Given the description of an element on the screen output the (x, y) to click on. 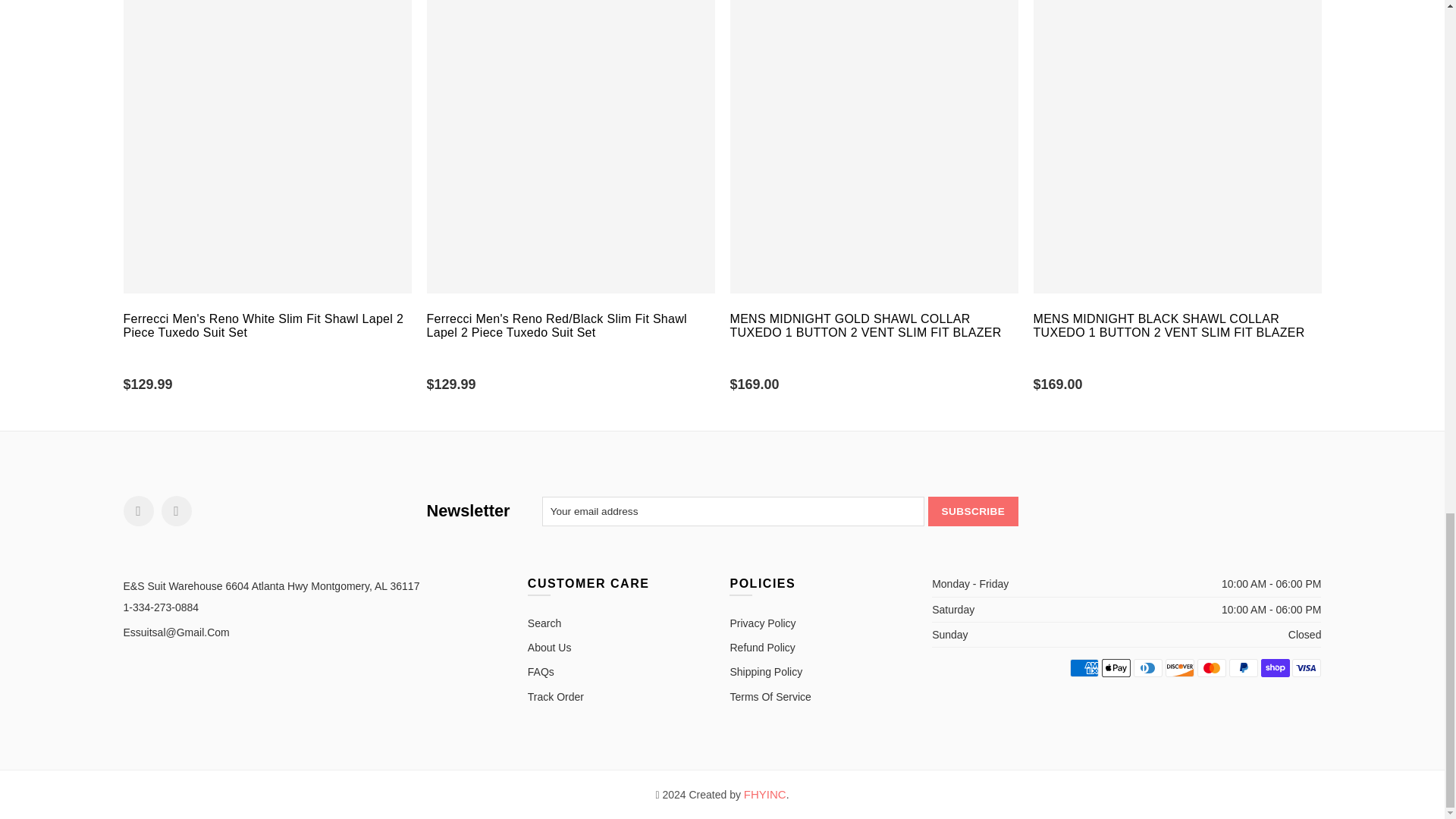
Apple Pay (1116, 668)
Discover (1179, 668)
Mastercard (1210, 668)
SUBSCRIBE (972, 511)
American Express (1084, 668)
PayPal (1242, 668)
Diners Club (1147, 668)
Visa (1306, 668)
Shop Pay (1275, 668)
